Given the description of an element on the screen output the (x, y) to click on. 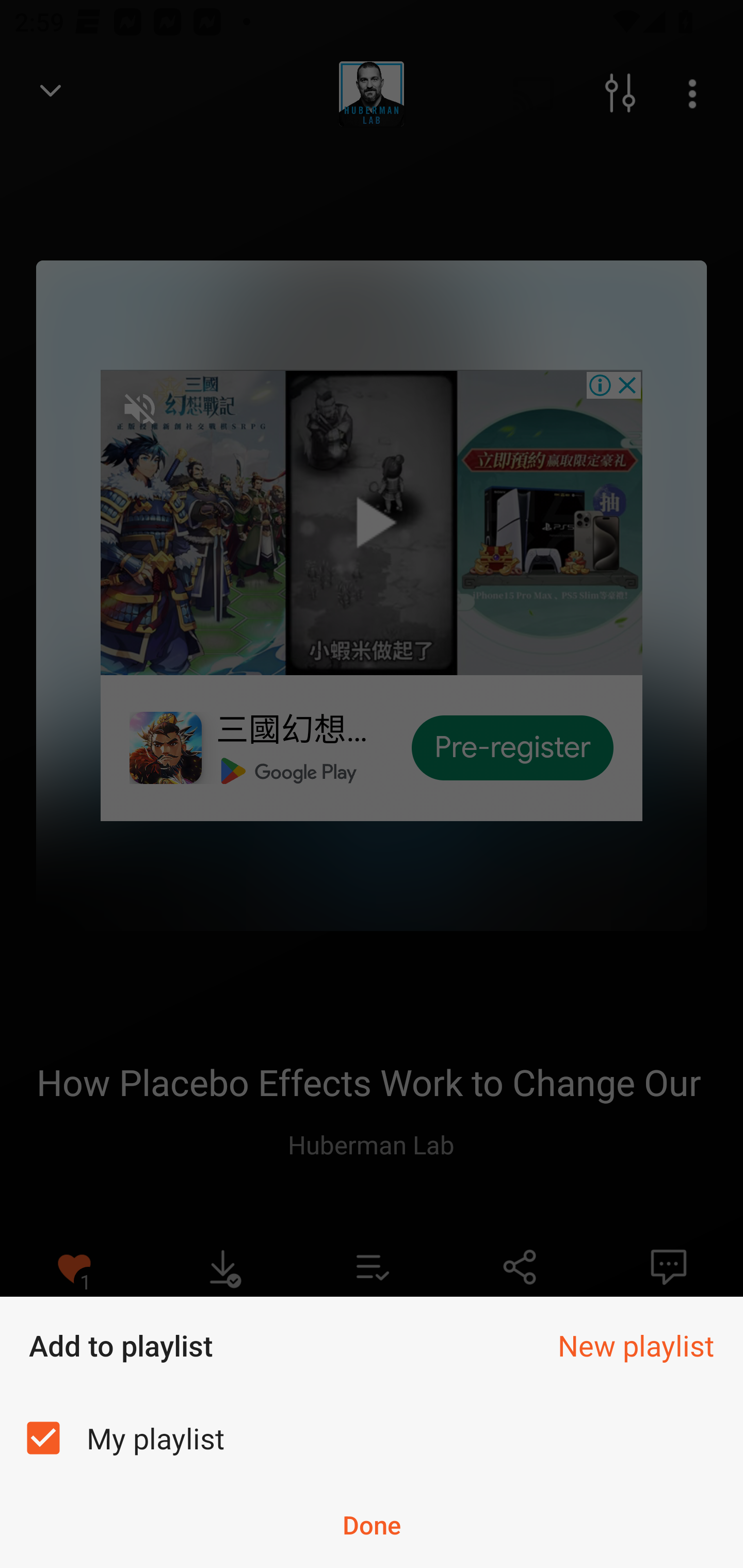
New playlist (636, 1344)
My playlist (371, 1437)
Done (371, 1524)
